Given the description of an element on the screen output the (x, y) to click on. 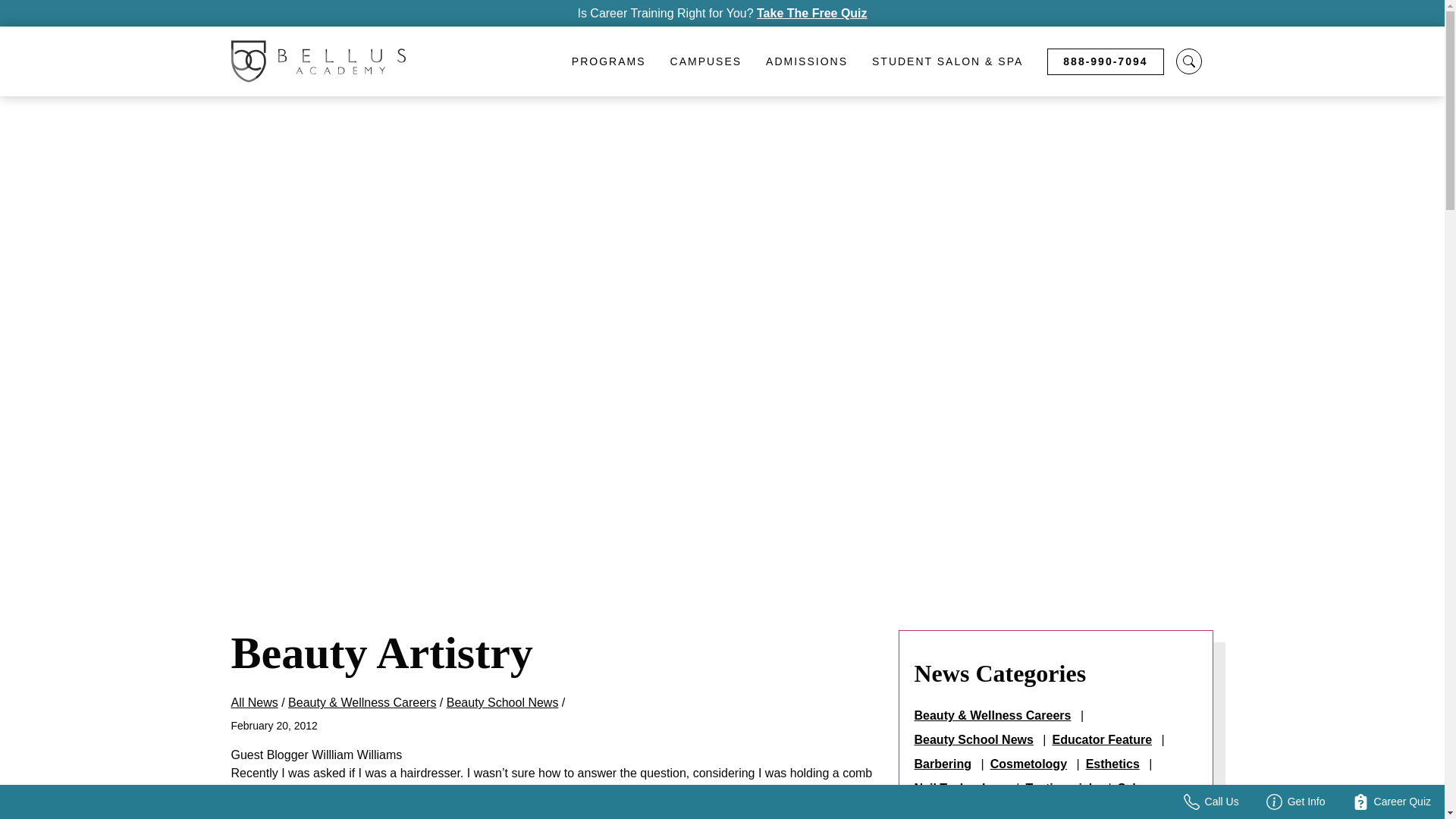
888-990-7094 (1104, 61)
Take The Free Quiz (812, 12)
Bellus Homepage Link (317, 61)
PROGRAMS (608, 61)
